Given the description of an element on the screen output the (x, y) to click on. 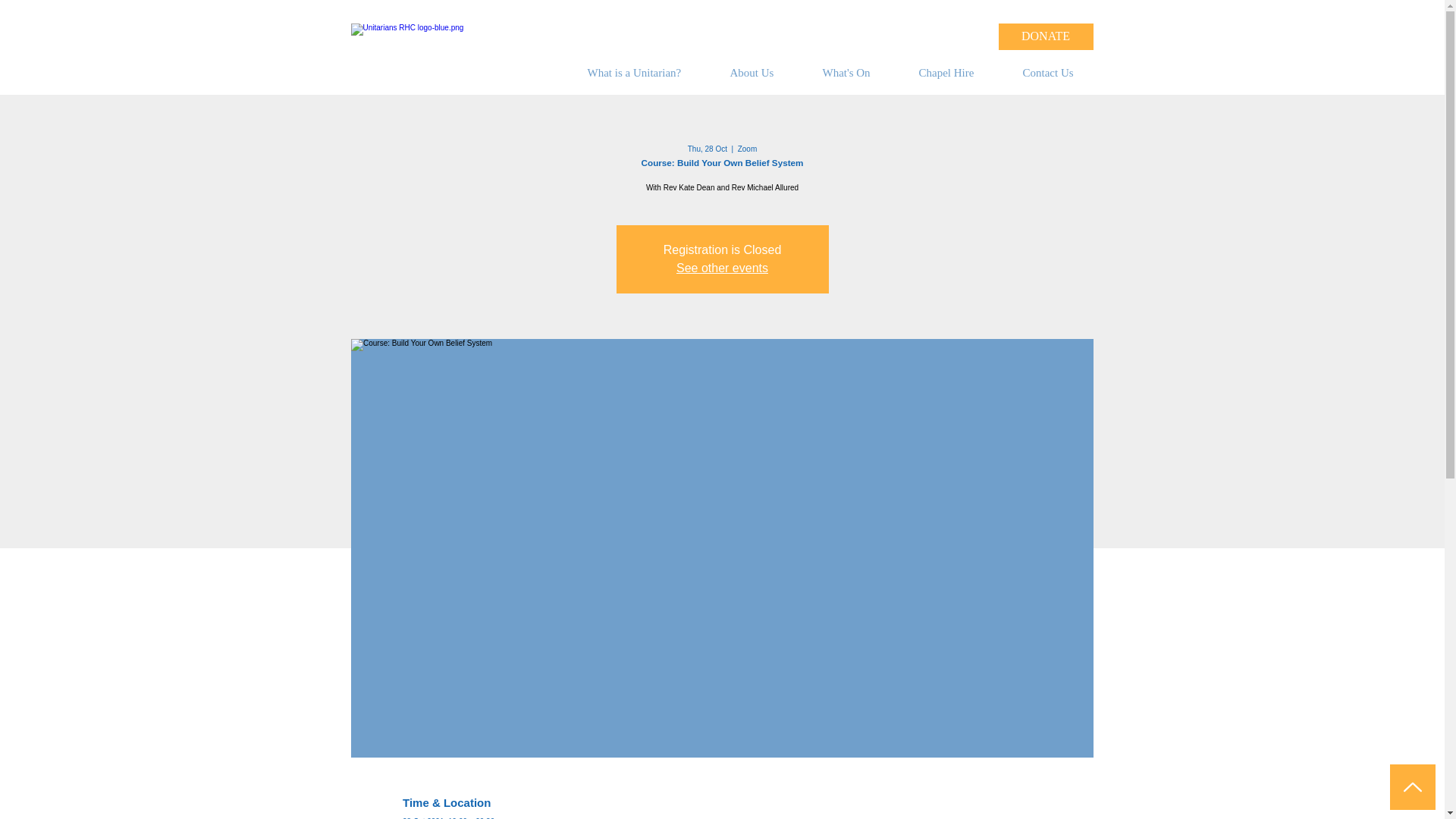
Chapel Hire (958, 73)
DONATE (1045, 36)
See other events (722, 267)
What is a Unitarian? (647, 73)
What's On (858, 73)
Contact Us (1060, 73)
About Us (764, 73)
